Given the description of an element on the screen output the (x, y) to click on. 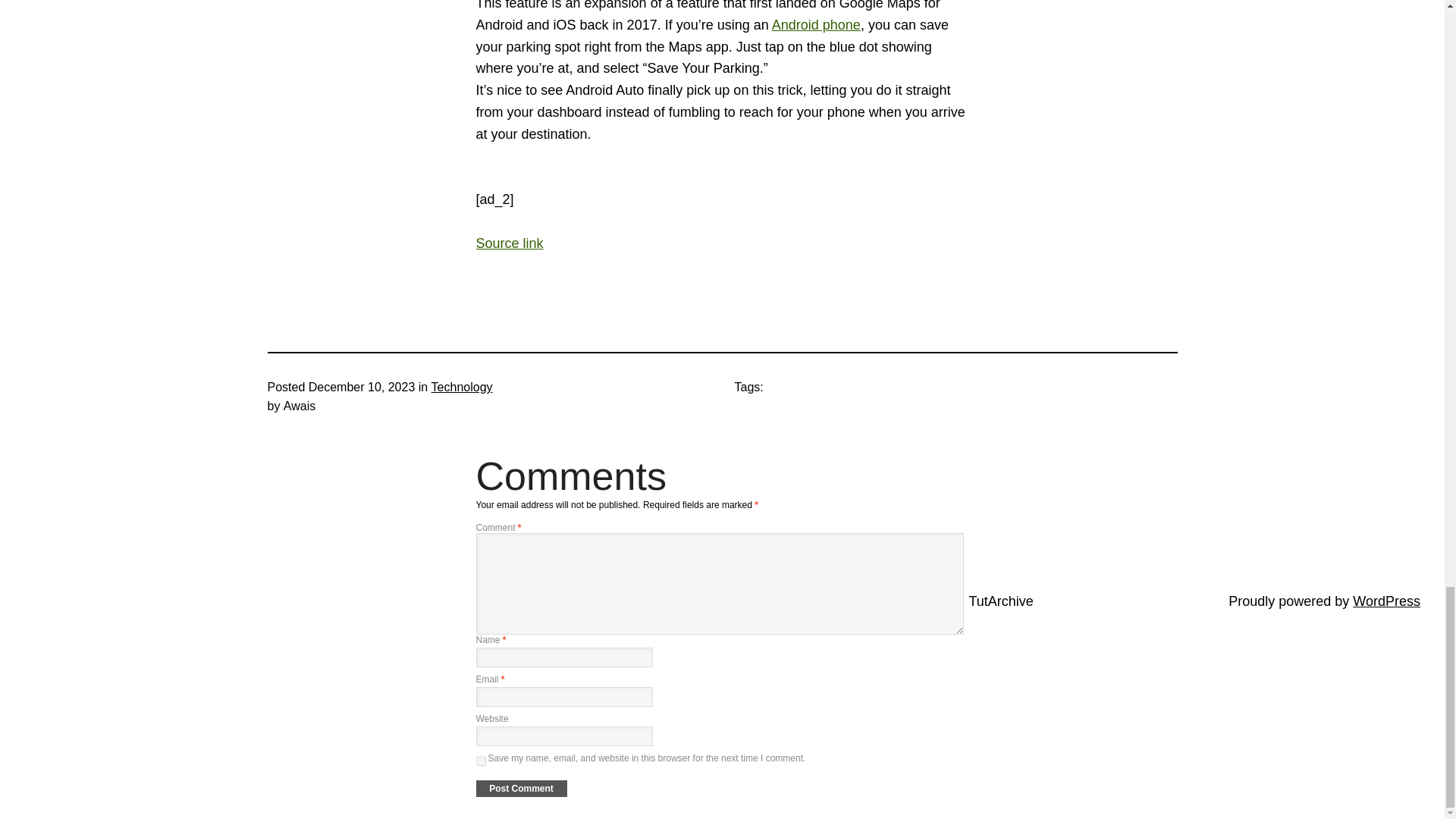
Source link (509, 242)
yes (481, 760)
WordPress (1386, 601)
Android phone (815, 24)
Post Comment (521, 788)
Technology (461, 386)
TutArchive (1001, 601)
Post Comment (521, 788)
